Given the description of an element on the screen output the (x, y) to click on. 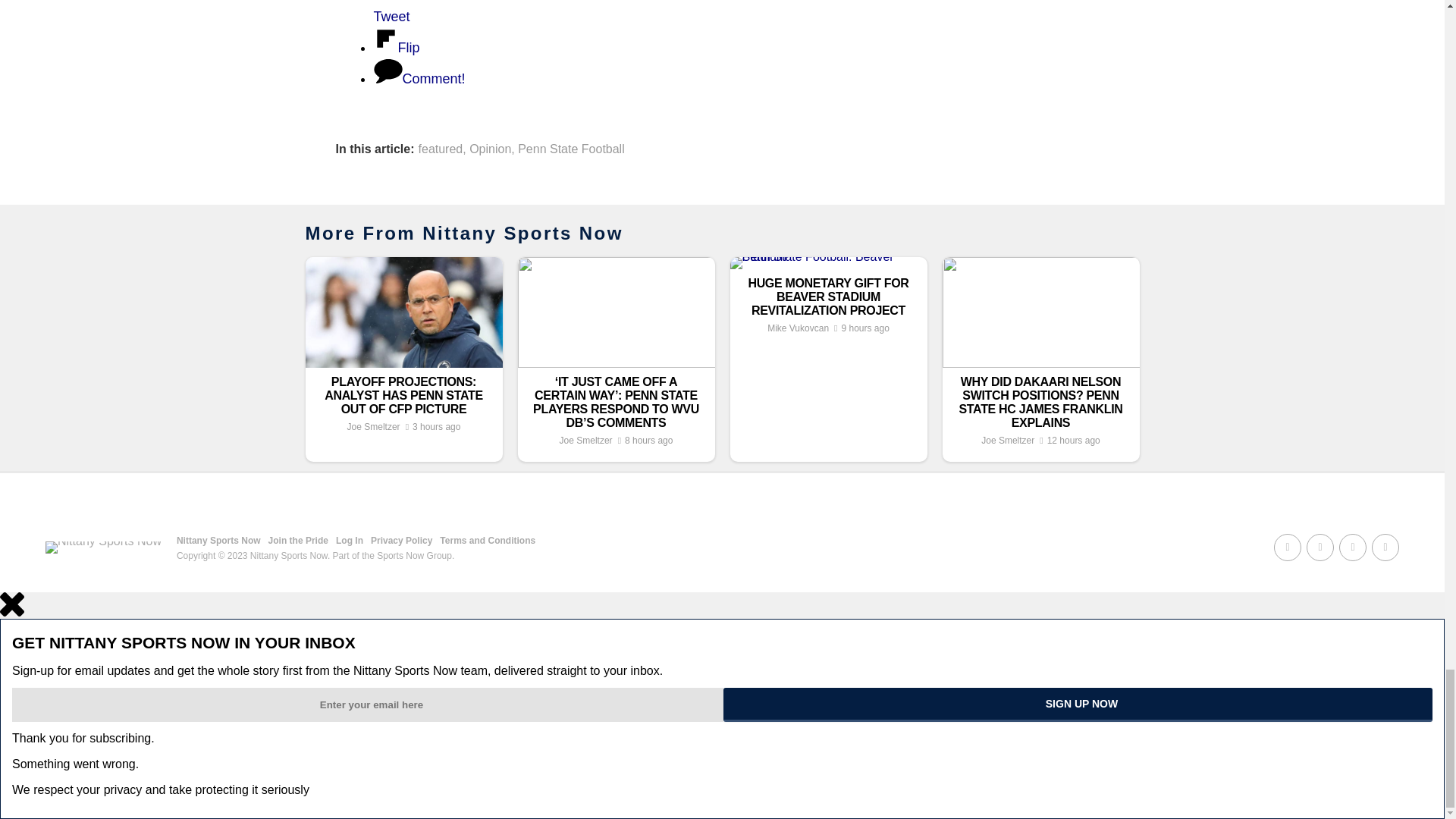
Sign Up Now (1077, 704)
Share on Tweet (603, 12)
Posts by Joe Smeltzer (585, 439)
Share on Flip (395, 47)
Posts by Mike Vukovcan (797, 327)
Posts by Joe Smeltzer (373, 426)
Posts by Joe Smeltzer (1007, 439)
Share on Comment! (418, 78)
